Given the description of an element on the screen output the (x, y) to click on. 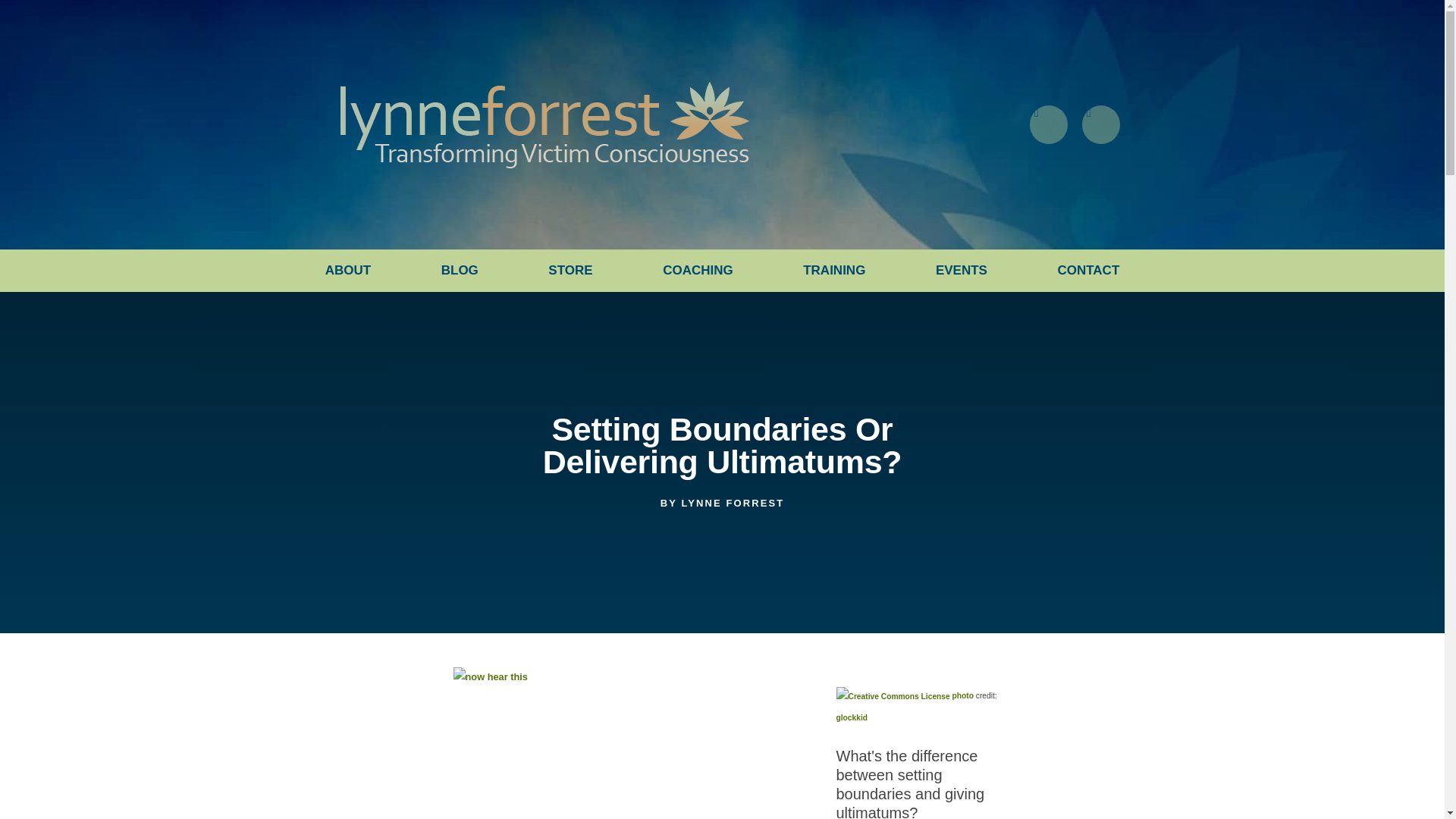
BLOG (459, 270)
ABOUT (347, 270)
photo (963, 695)
EVENTS (962, 270)
COACHING (697, 270)
STORE (570, 270)
glockkid (851, 717)
CONTACT (1088, 270)
Attribution-NoDerivs License (892, 695)
TRAINING (834, 270)
